Given the description of an element on the screen output the (x, y) to click on. 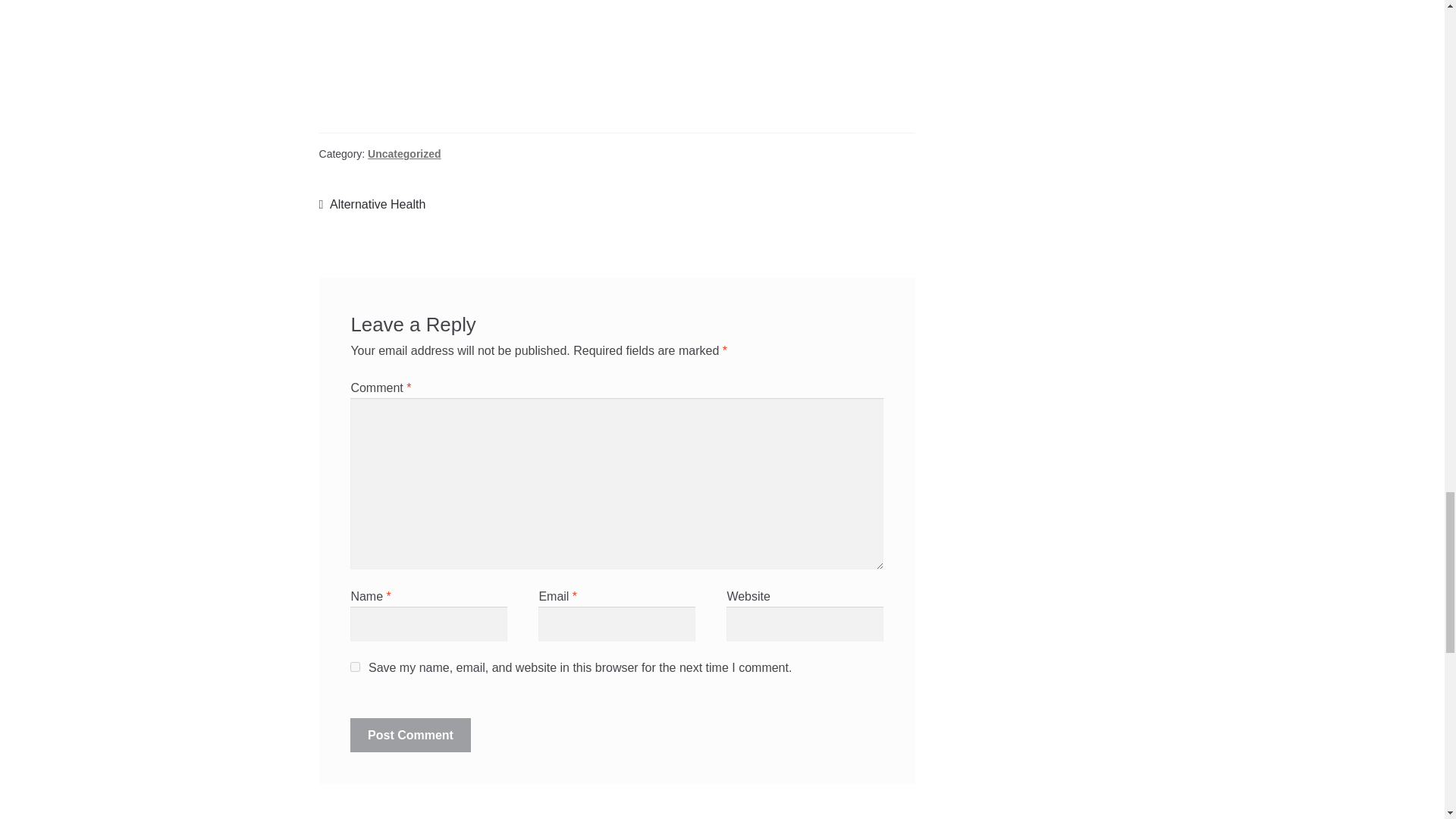
yes (354, 666)
Post Comment (410, 735)
